Given the description of an element on the screen output the (x, y) to click on. 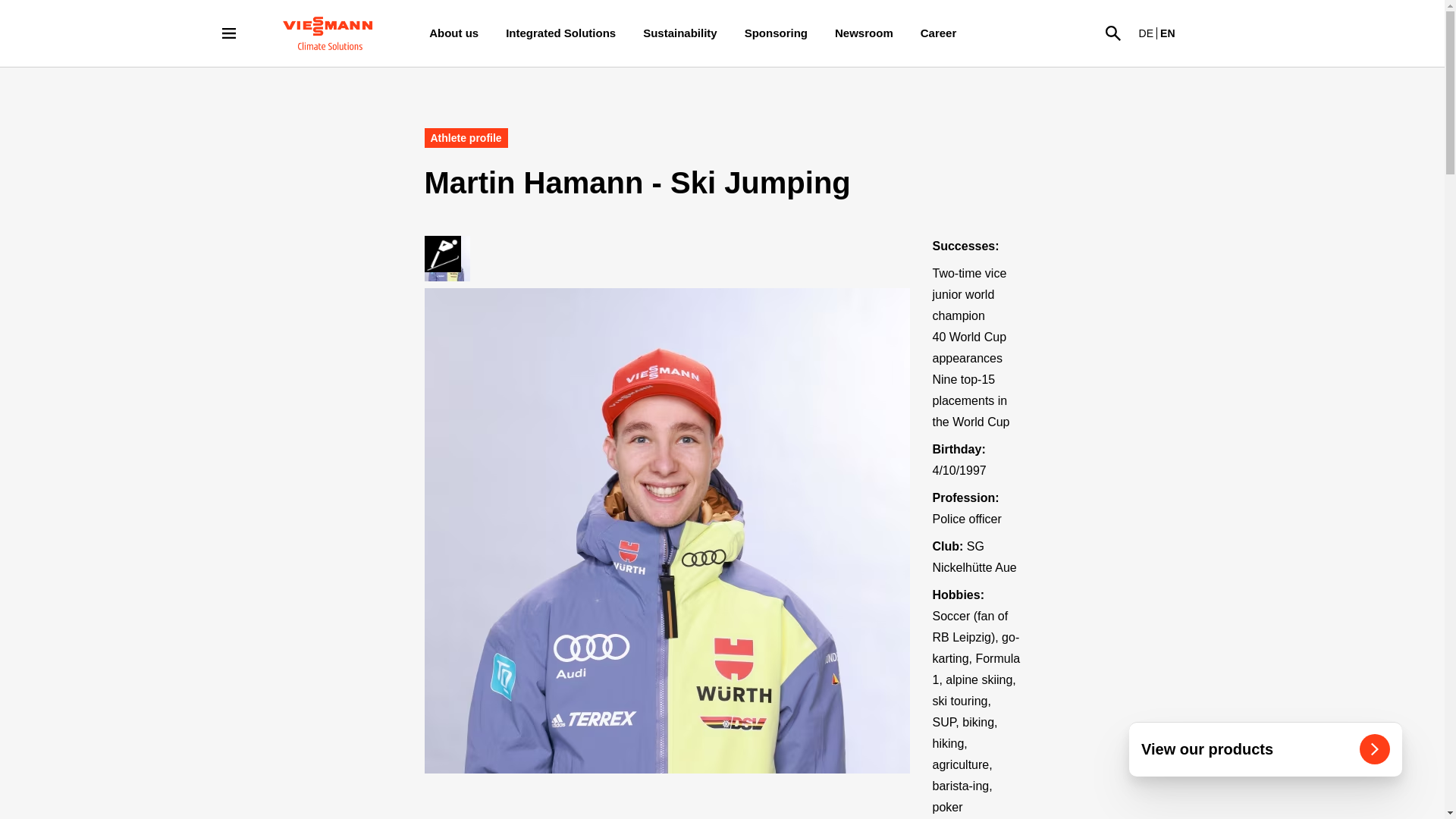
DE (1145, 33)
Sustainability (679, 32)
Integrated Solutions (560, 32)
Career (938, 32)
EN (1167, 33)
Viessmann Climate Solutions word brand (327, 33)
About us (453, 32)
Newsroom (863, 32)
Sponsoring (775, 32)
